Given the description of an element on the screen output the (x, y) to click on. 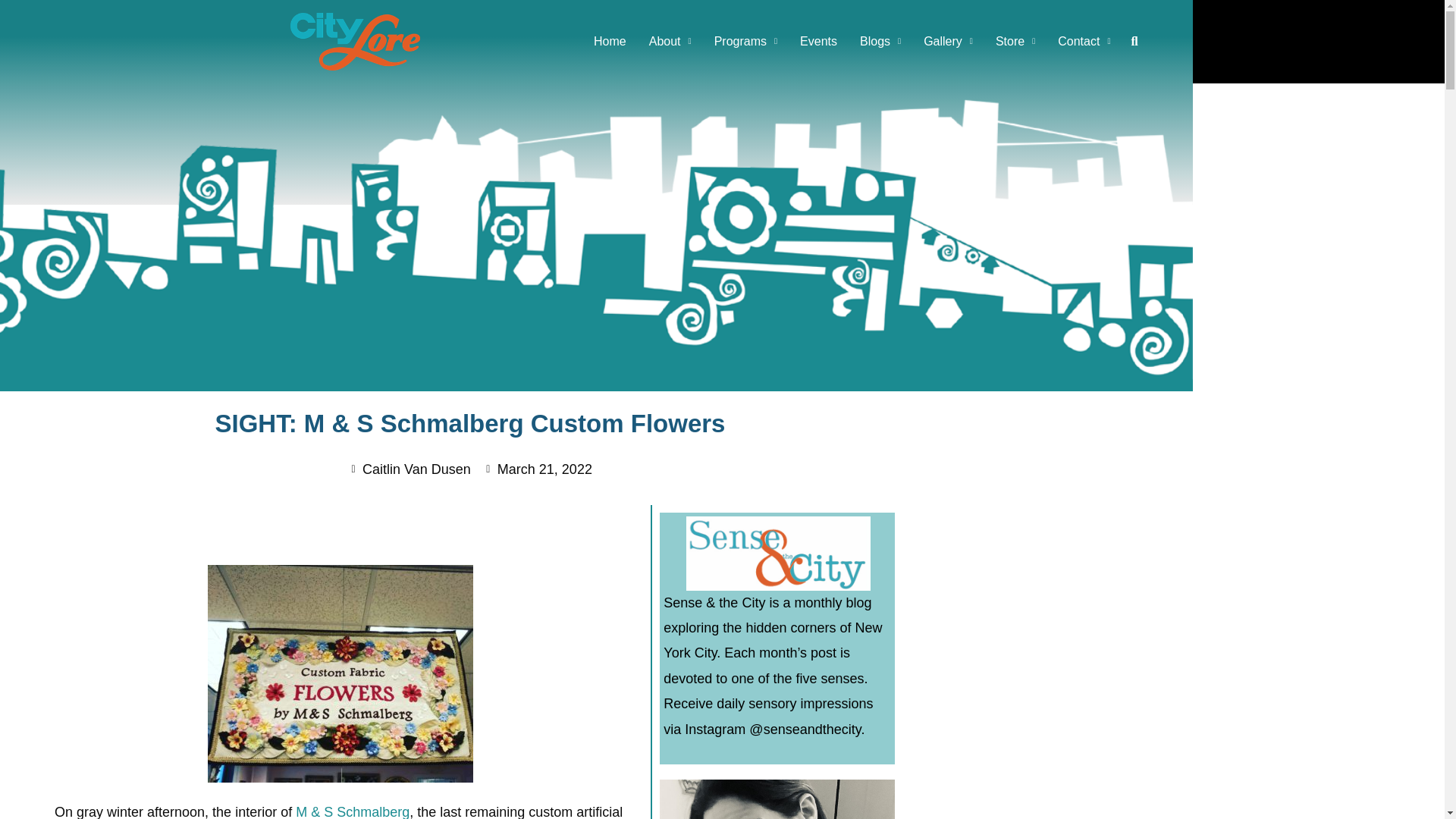
Home (609, 41)
About (670, 41)
Programs (746, 41)
